Given the description of an element on the screen output the (x, y) to click on. 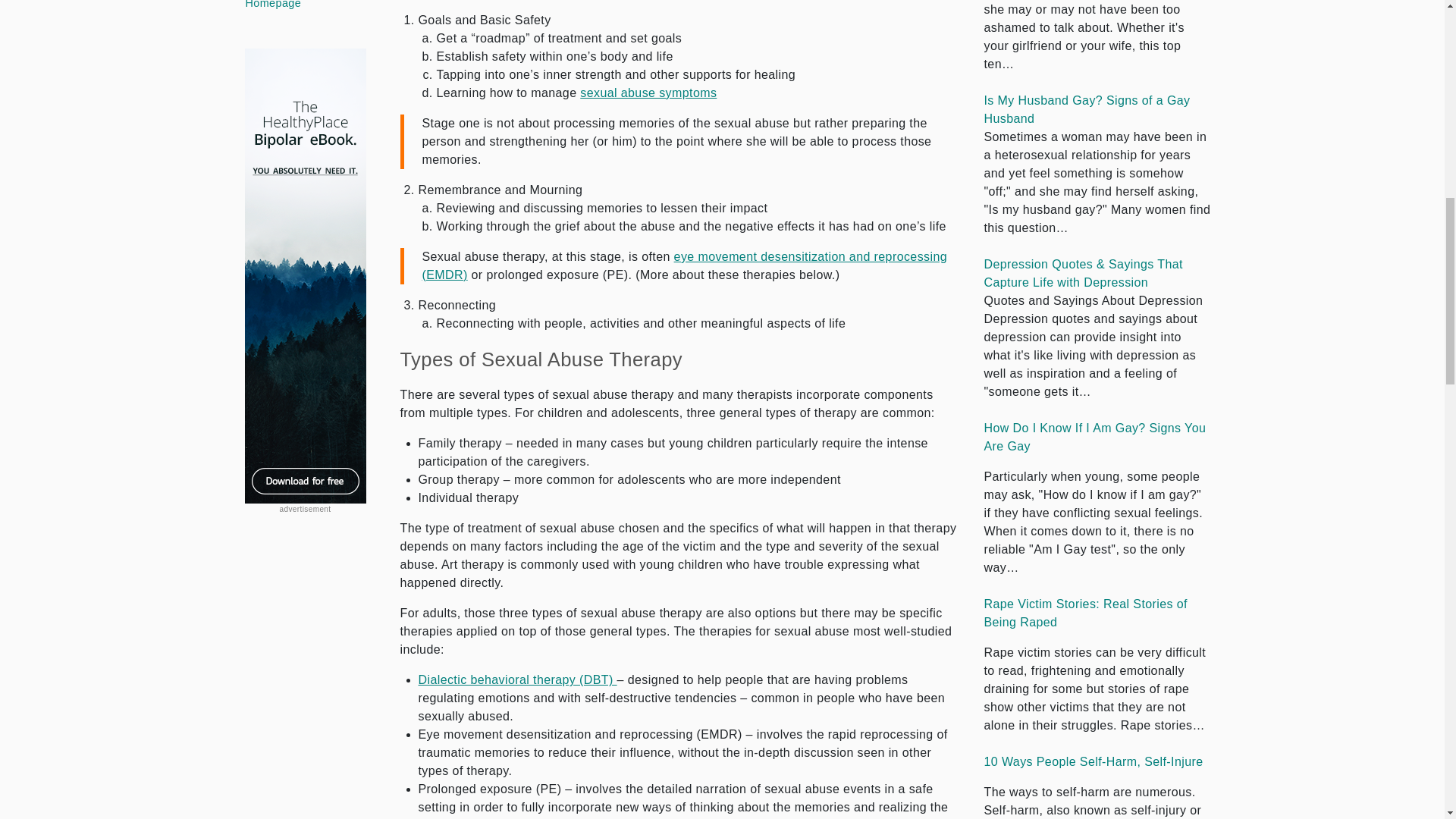
EMDR Therapy for PTSD and Trauma Victims (684, 265)
What is DBT, and Who is it For? (518, 679)
Warning Signs of Child Sexual Abuse (647, 92)
